Given the description of an element on the screen output the (x, y) to click on. 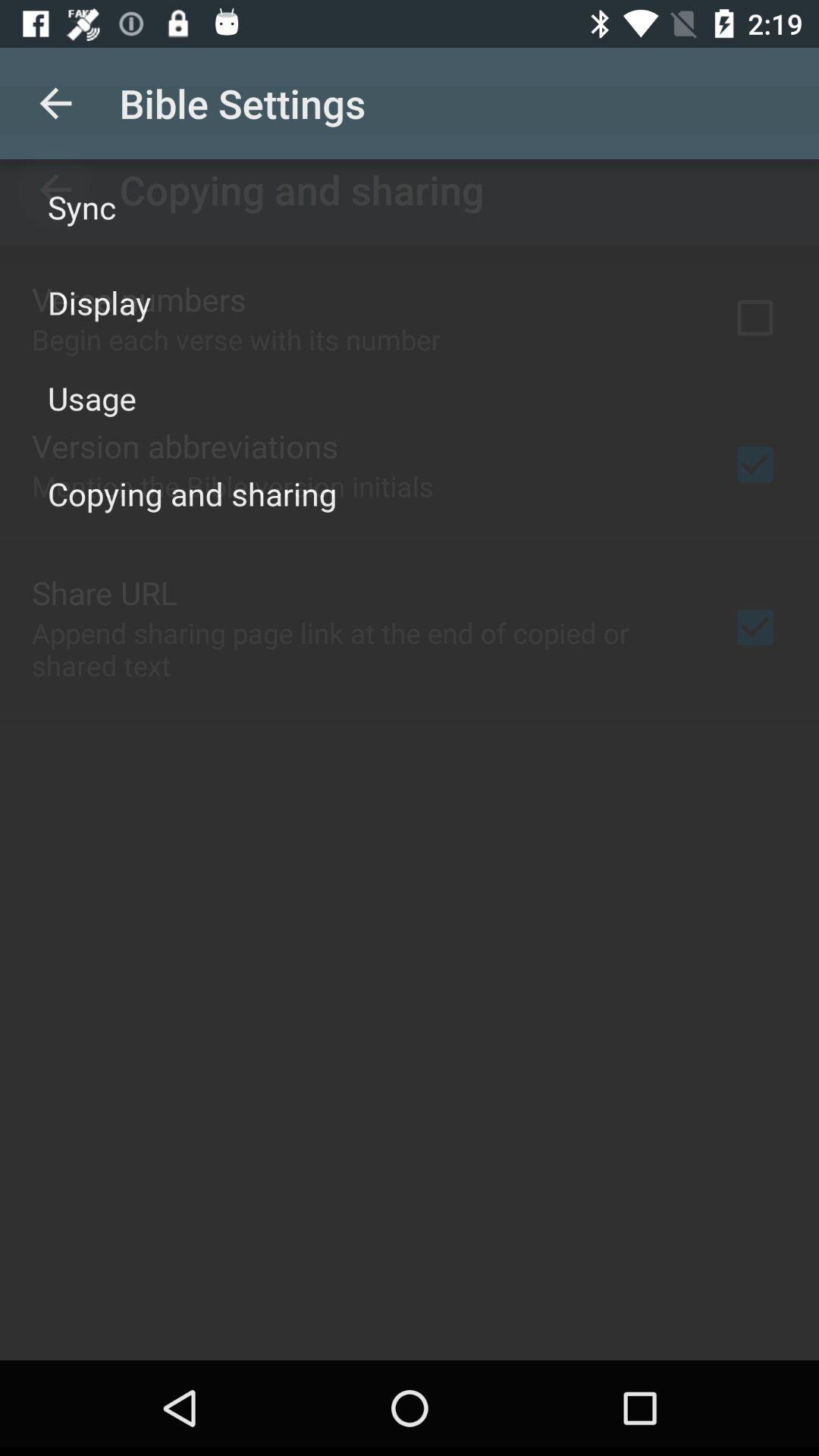
turn off the item above the usage item (99, 302)
